Given the description of an element on the screen output the (x, y) to click on. 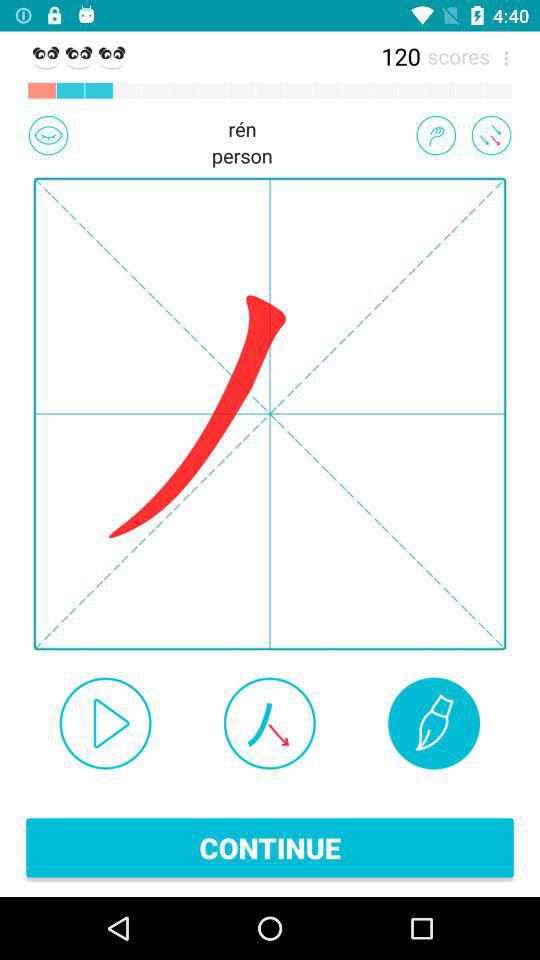
pull the object through the center towards the bottom right (491, 135)
